Given the description of an element on the screen output the (x, y) to click on. 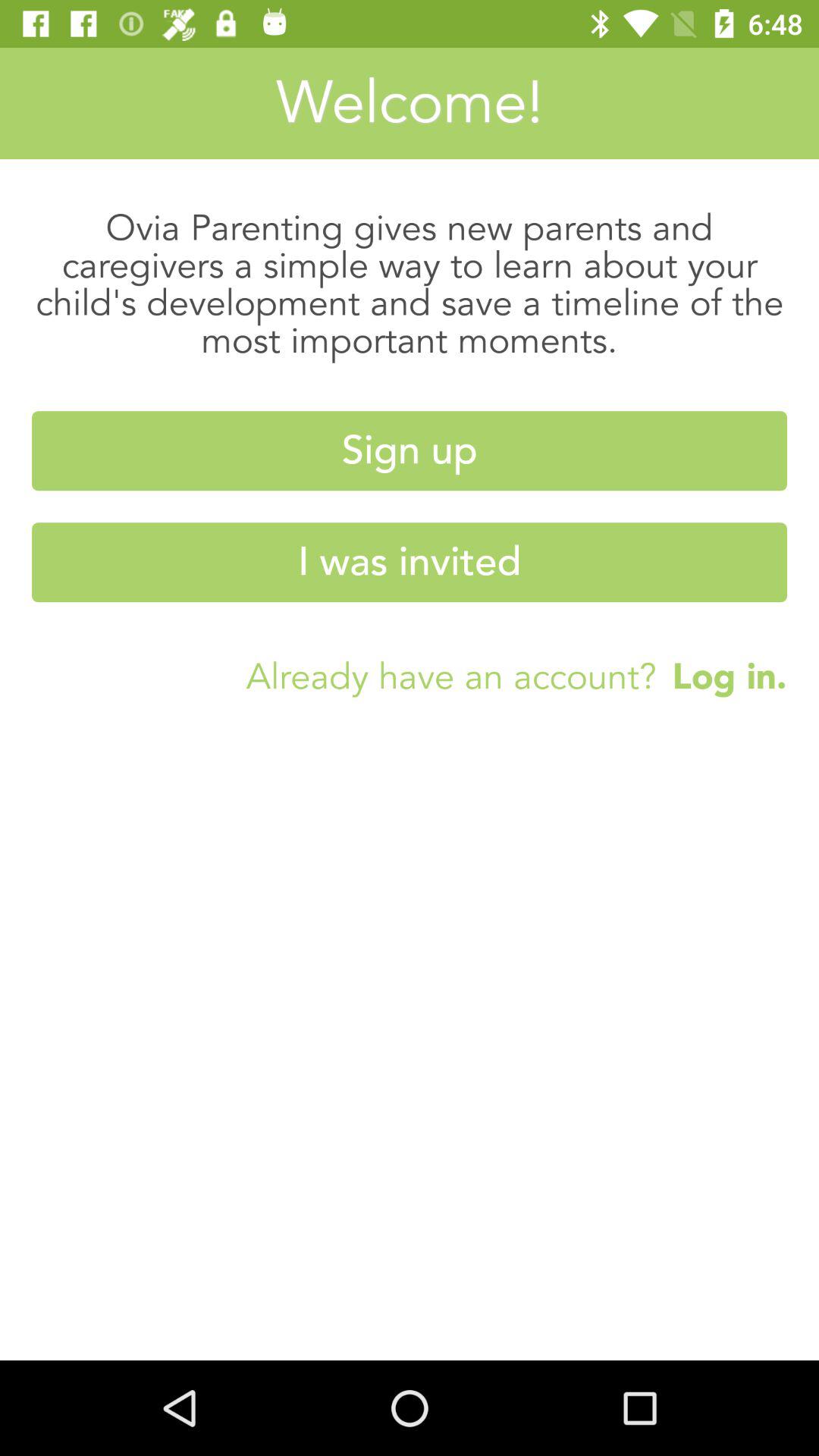
select the welcome! (409, 103)
